Given the description of an element on the screen output the (x, y) to click on. 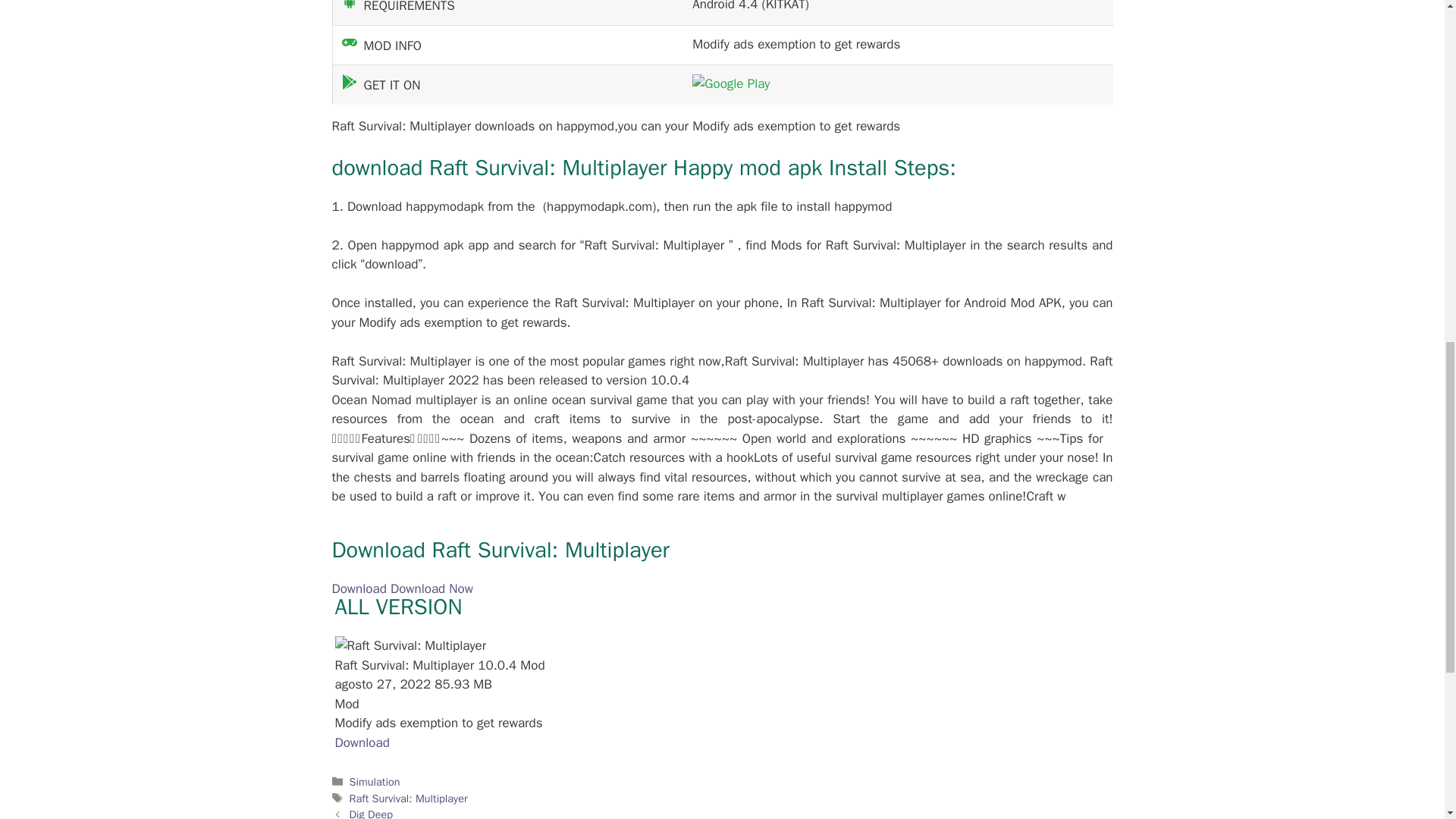
Simulation (374, 781)
Raft Survival: Multiplayer 3Happymodapk Free Download (410, 646)
Download Download Now (402, 588)
Download (362, 742)
Dig Deep (371, 813)
Raft Survival: Multiplayer 2Happymodapk Free Download (731, 83)
Raft Survival: Multiplayer (408, 798)
